Given the description of an element on the screen output the (x, y) to click on. 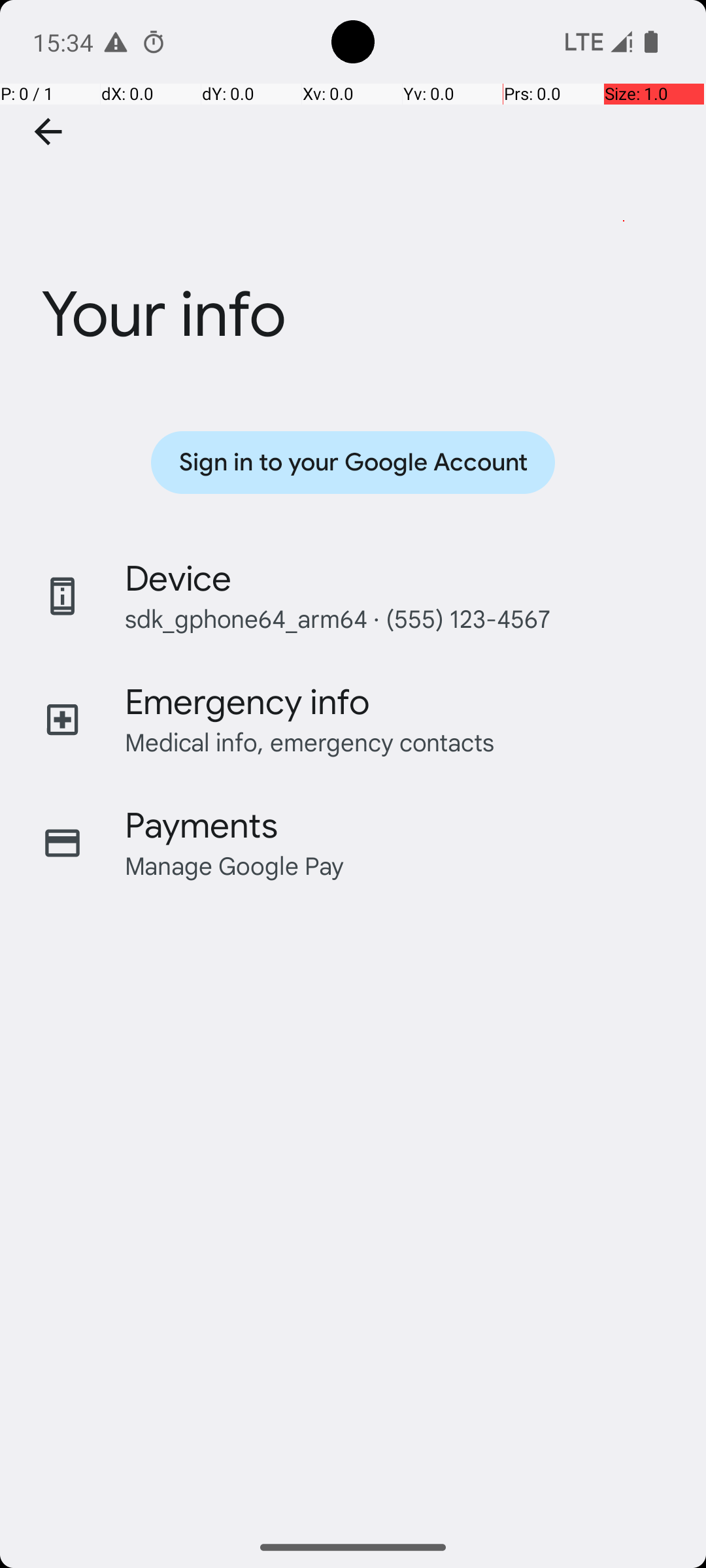
Your info Element type: android.widget.FrameLayout (353, 236)
Sign in to your Google Account Element type: android.widget.Button (352, 462)
Device Element type: android.widget.TextView (178, 578)
sdk_gphone64_arm64 · (555) 123-4567 Element type: android.widget.TextView (337, 618)
Emergency info Element type: android.widget.TextView (246, 702)
Medical info, emergency contacts Element type: android.widget.TextView (309, 741)
Payments Element type: android.widget.TextView (200, 825)
Manage Google Pay Element type: android.widget.TextView (234, 865)
